Given the description of an element on the screen output the (x, y) to click on. 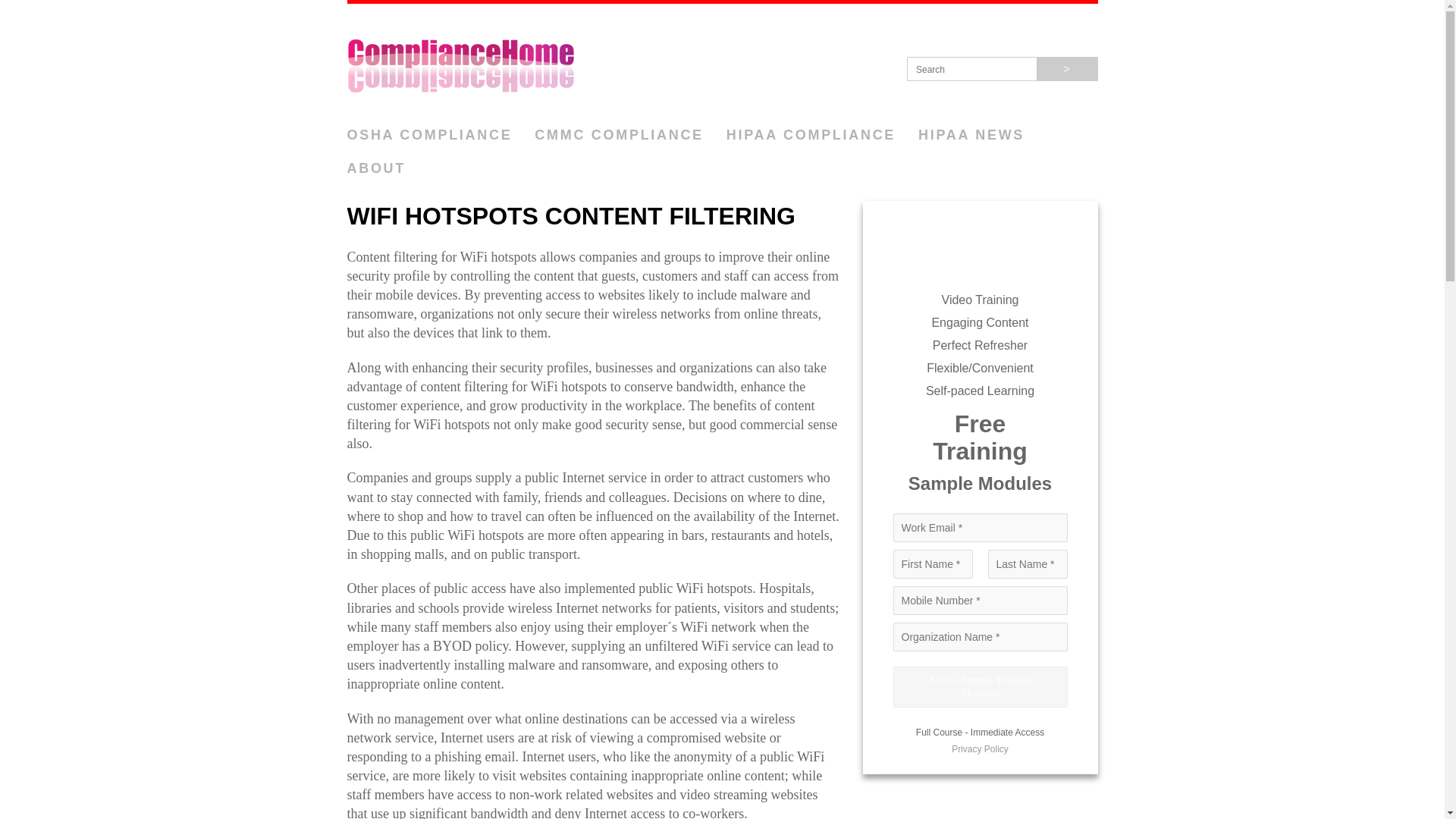
Privacy Policy (980, 748)
OSHA COMPLIANCE (429, 135)
HIPAA NEWS (971, 135)
ABOUT (376, 168)
Access Sample Training Modules (980, 686)
Compliance Home (722, 61)
CMMC COMPLIANCE (618, 135)
HIPAA COMPLIANCE (810, 135)
